Given the description of an element on the screen output the (x, y) to click on. 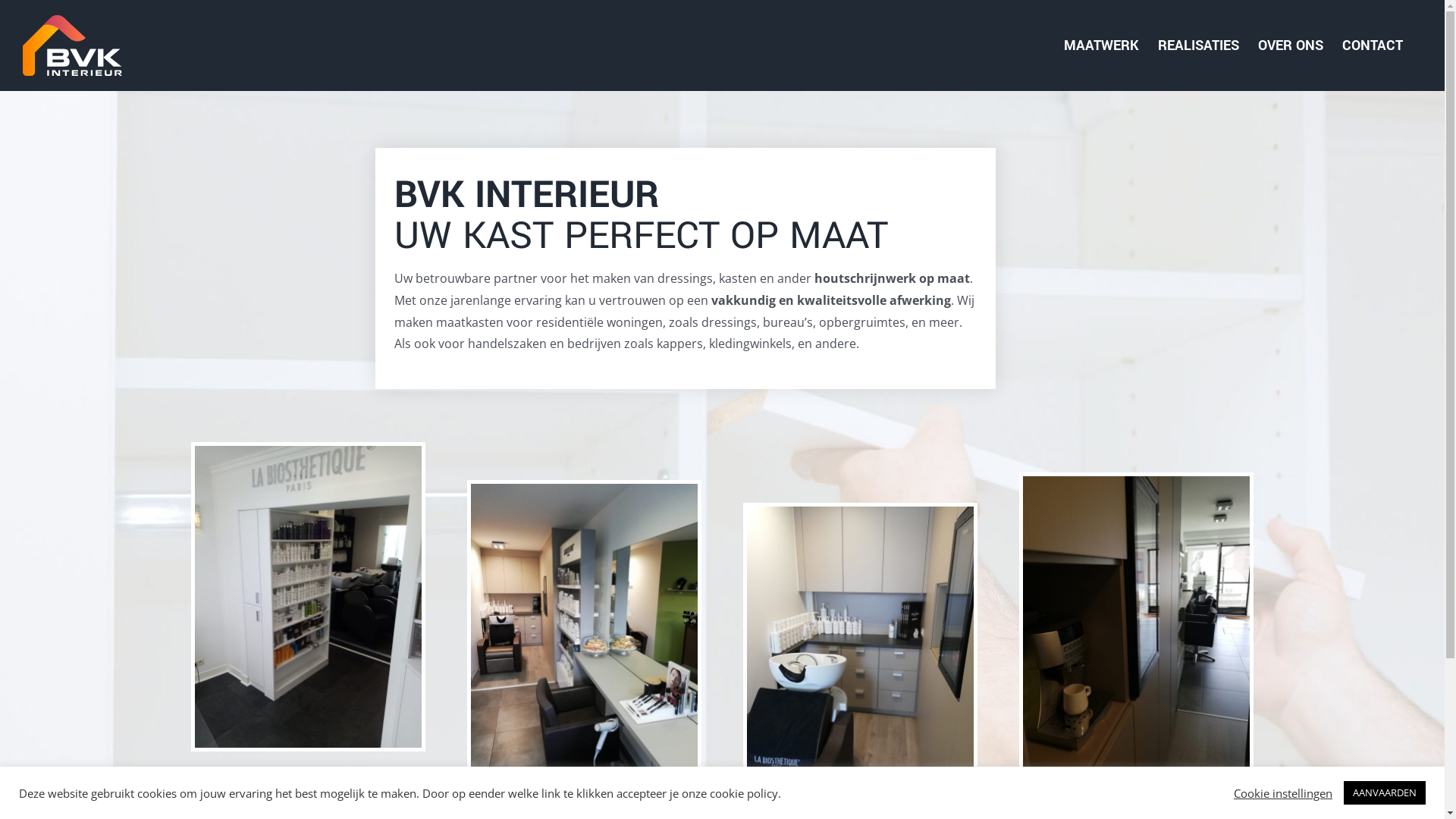
AANVAARDEN Element type: text (1384, 792)
Inrichting kapperszaak Element type: hover (1135, 481)
OVER ONS Element type: text (1290, 45)
Cookie instellingen Element type: text (1282, 792)
Inrichting winkel Element type: hover (307, 451)
Inrichting kapperszaak Element type: hover (859, 512)
MAATWERK Element type: text (1101, 45)
REALISATIES Element type: text (1198, 45)
CONTACT Element type: text (1372, 45)
Inrichting kapperszaak Element type: hover (583, 489)
